Given the description of an element on the screen output the (x, y) to click on. 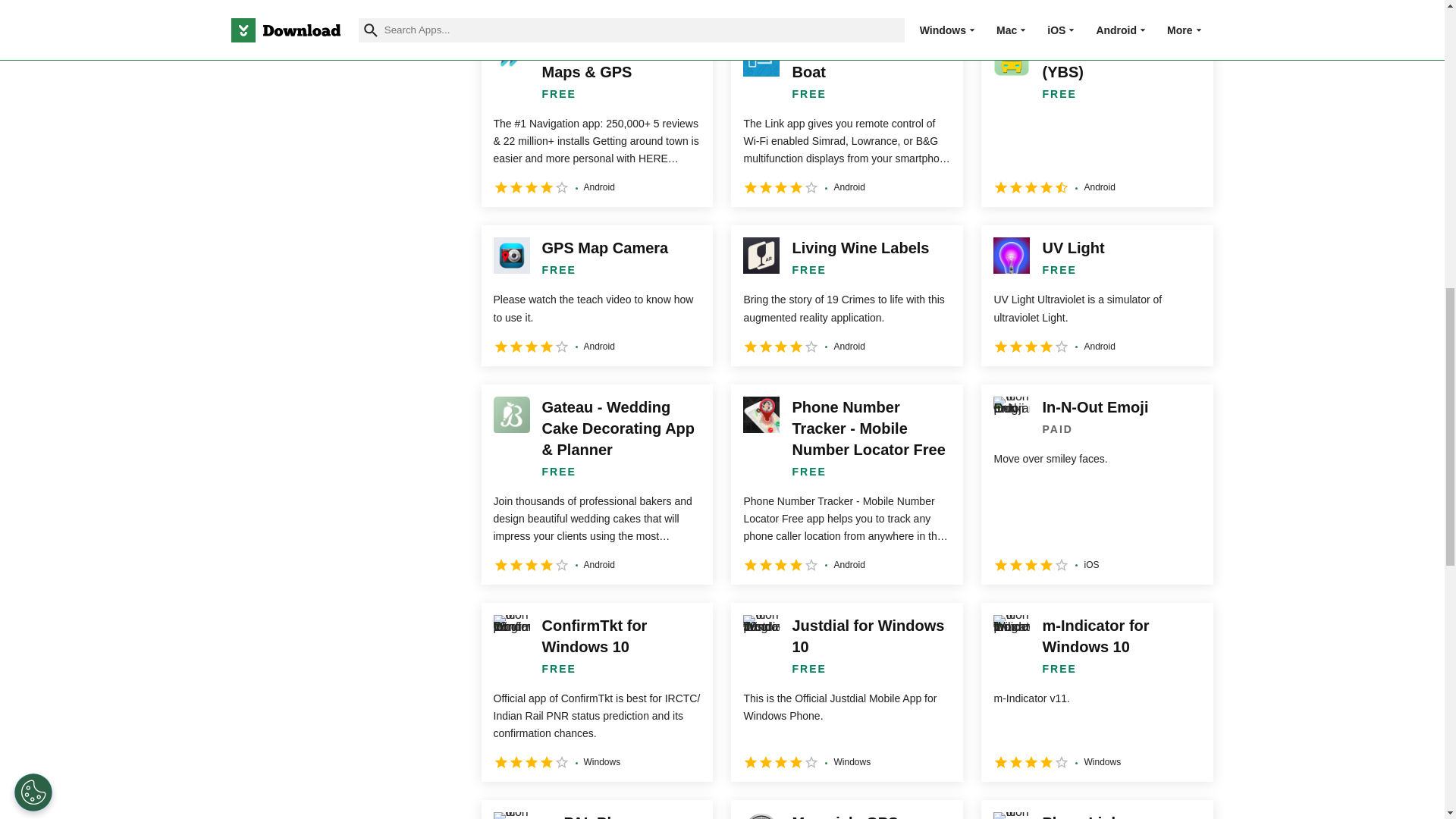
GPS Map Camera (596, 295)
ConfirmTkt for Windows 10 (596, 692)
UV Light (1096, 295)
Living Wine Labels (846, 295)
Microsoft Streets and Trips (846, 4)
AVICSYNC (1096, 4)
In-N-Out Emoji (1096, 484)
Phone Number Tracker - Mobile Number Locator Free (846, 484)
Link: Connect Your Boat (846, 117)
Justdial for Windows 10 (846, 692)
